Given the description of an element on the screen output the (x, y) to click on. 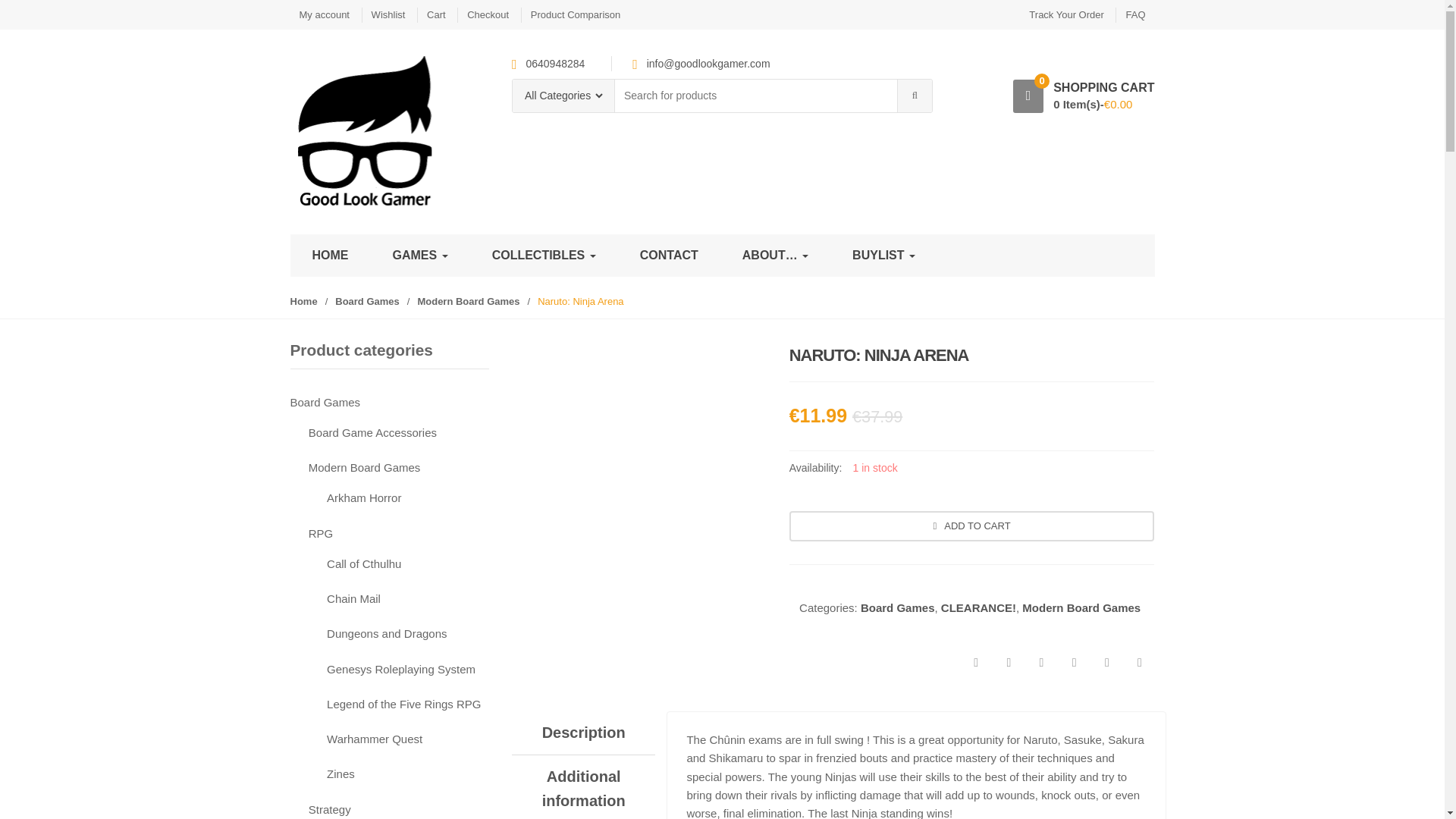
Buylist (883, 255)
Cart (435, 14)
FAQ (1134, 14)
HOME (329, 255)
Home (329, 255)
GAMES (418, 255)
Games (418, 255)
Cart (435, 14)
Wishlist (388, 14)
About... (774, 255)
CONTACT (668, 255)
My account (323, 14)
Home (303, 301)
COLLECTIBLES (543, 255)
My account (323, 14)
